Given the description of an element on the screen output the (x, y) to click on. 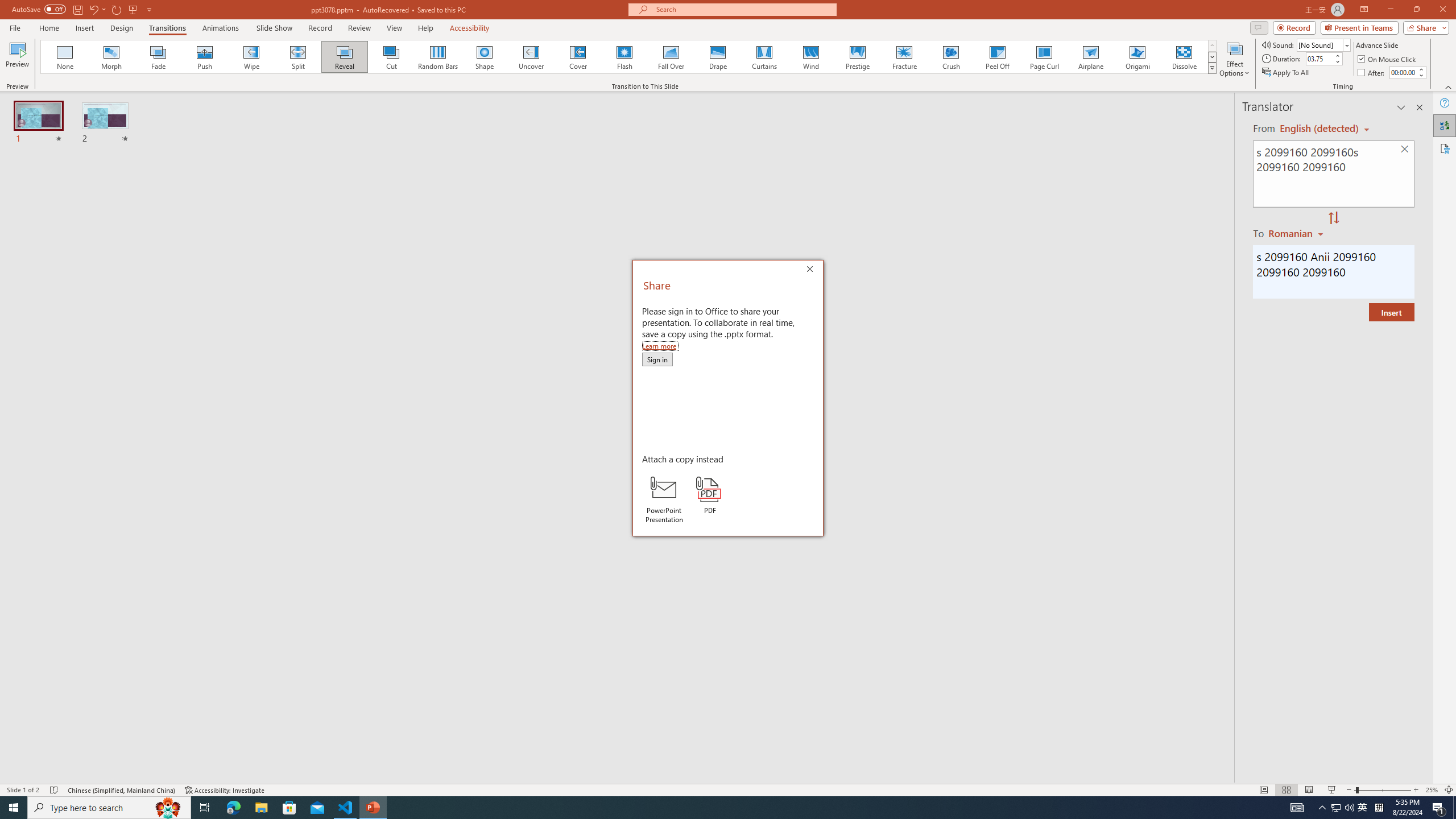
PDF (709, 495)
